Given the description of an element on the screen output the (x, y) to click on. 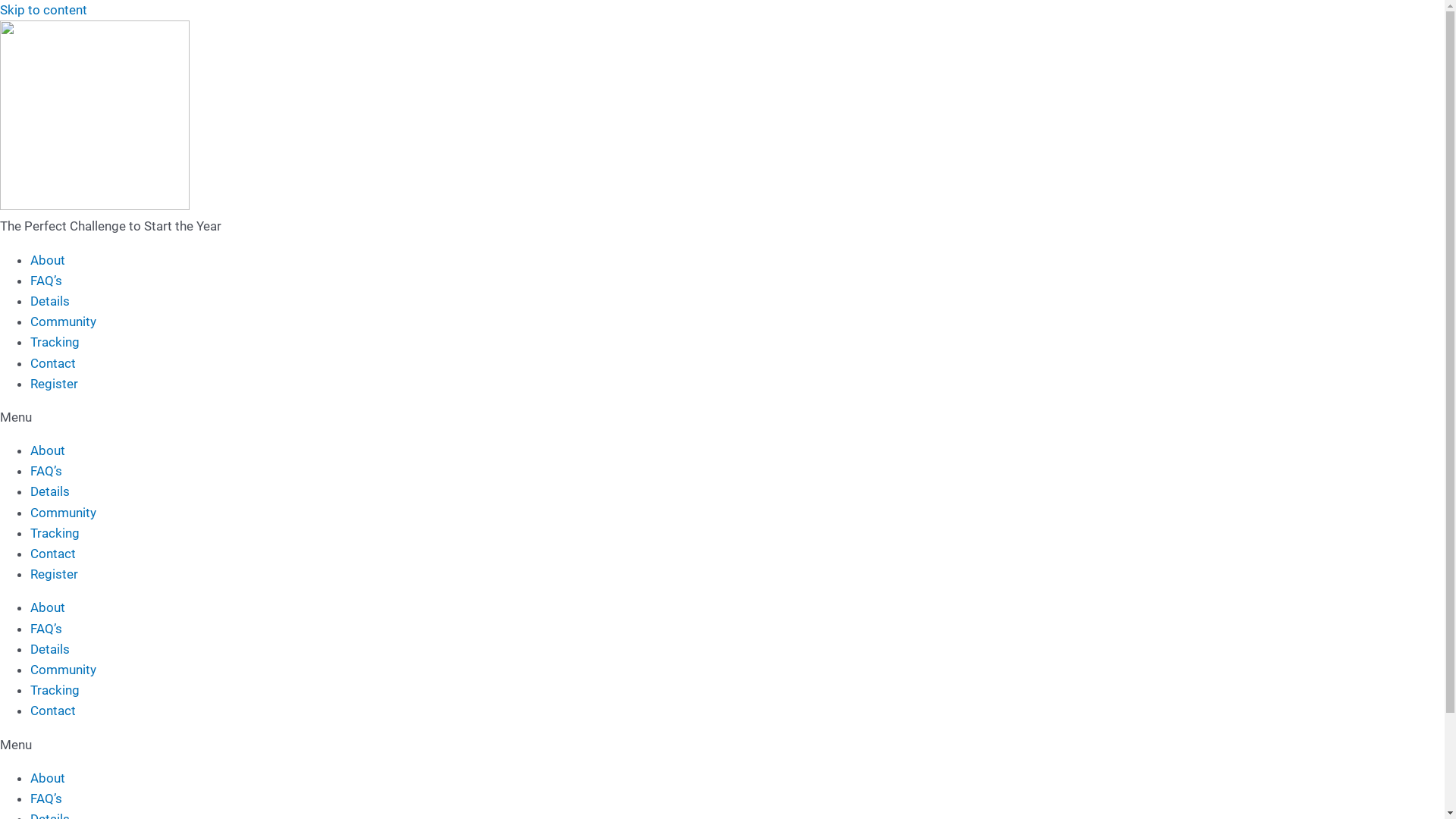
Tracking Element type: text (54, 689)
Register Element type: text (54, 383)
Community Element type: text (63, 512)
Community Element type: text (63, 669)
About Element type: text (47, 607)
Details Element type: text (49, 648)
About Element type: text (47, 777)
Details Element type: text (49, 300)
Tracking Element type: text (54, 341)
Details Element type: text (49, 490)
Contact Element type: text (52, 362)
About Element type: text (47, 259)
Community Element type: text (63, 321)
Contact Element type: text (52, 710)
Contact Element type: text (52, 553)
About Element type: text (47, 450)
Tracking Element type: text (54, 532)
Register Element type: text (54, 573)
Skip to content Element type: text (43, 9)
